Given the description of an element on the screen output the (x, y) to click on. 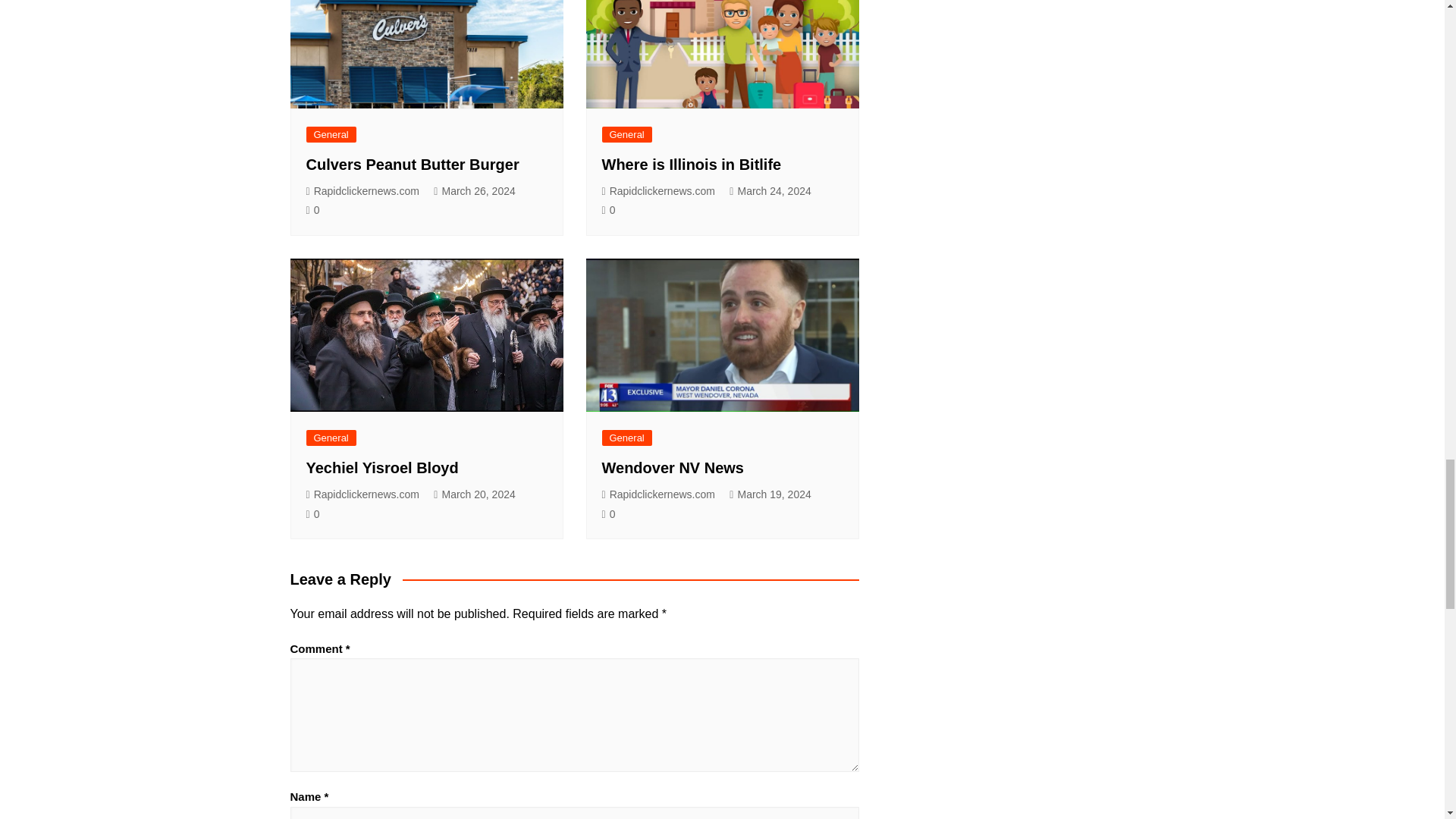
General (330, 134)
Culvers Peanut Butter Burger (412, 164)
